Given the description of an element on the screen output the (x, y) to click on. 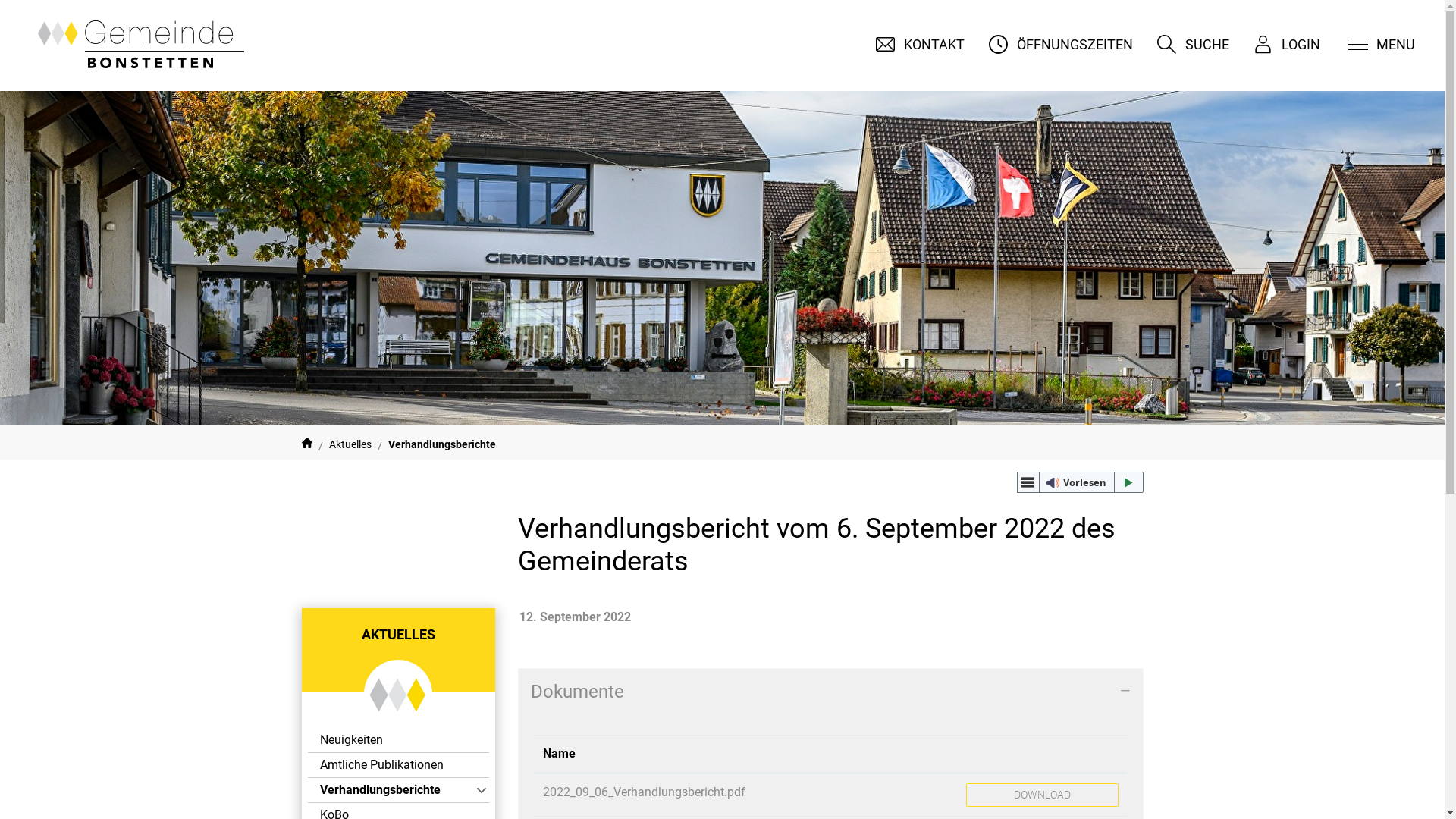
Amtliche Publikationen Element type: text (398, 765)
MENU Element type: text (1371, 44)
KONTAKT Element type: text (912, 44)
Aktuelles Element type: text (350, 444)
2022_09_06_Verhandlungsbericht.pdf Element type: text (643, 791)
Vorlesen Element type: text (1079, 481)
Dokumente Element type: text (830, 691)
Neuigkeiten Element type: text (398, 740)
Go to Home Element type: hover (306, 444)
LOGIN Element type: text (1279, 44)
SUCHE Element type: text (1185, 44)
DOWNLOAD Element type: text (1042, 794)
Gemeinde Bonstetten Element type: text (136, 46)
